Given the description of an element on the screen output the (x, y) to click on. 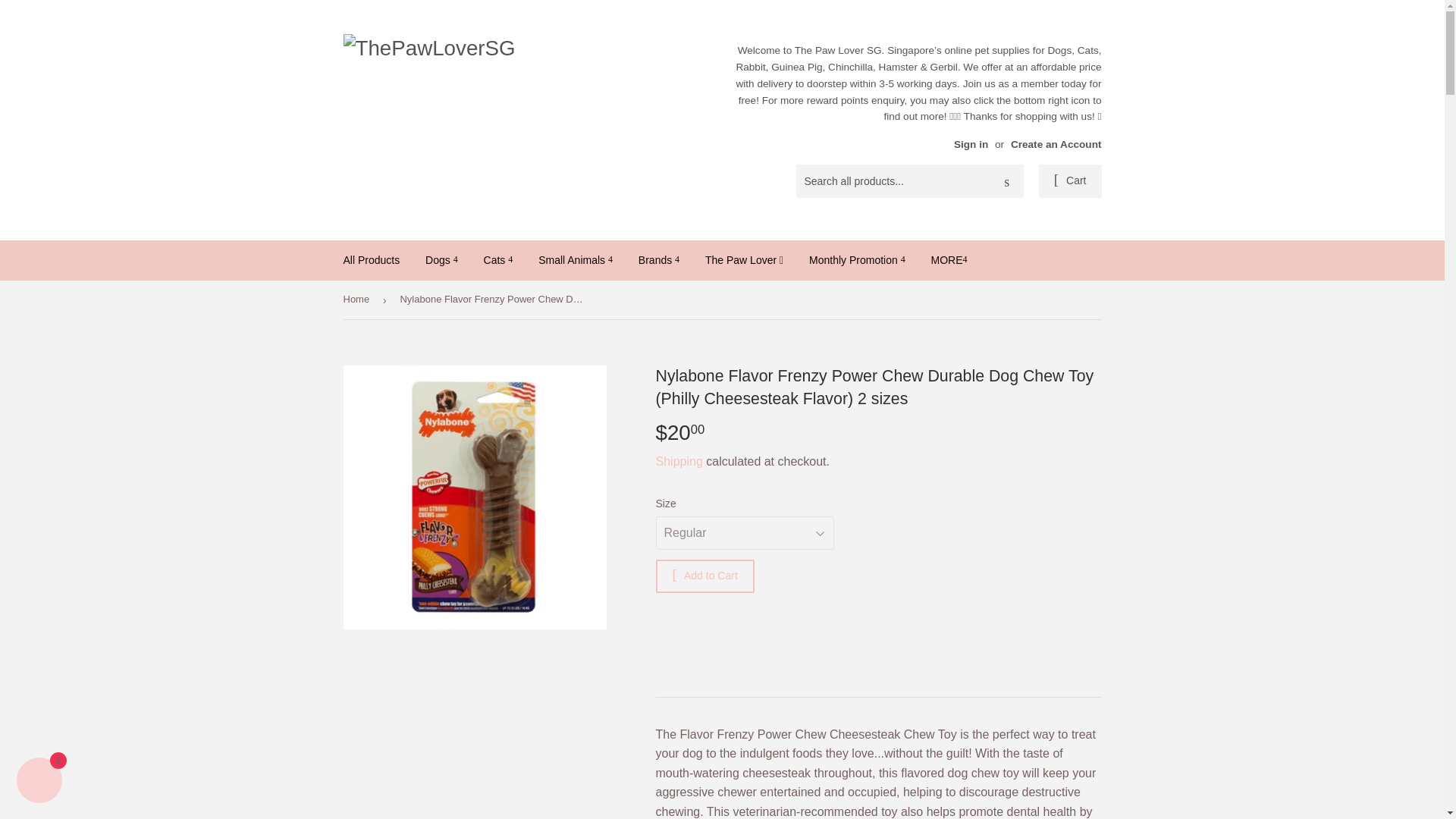
Search (1006, 182)
Create an Account (1056, 143)
Sign in (970, 143)
Cart (1070, 181)
Shopify online store chat (38, 781)
